Given the description of an element on the screen output the (x, y) to click on. 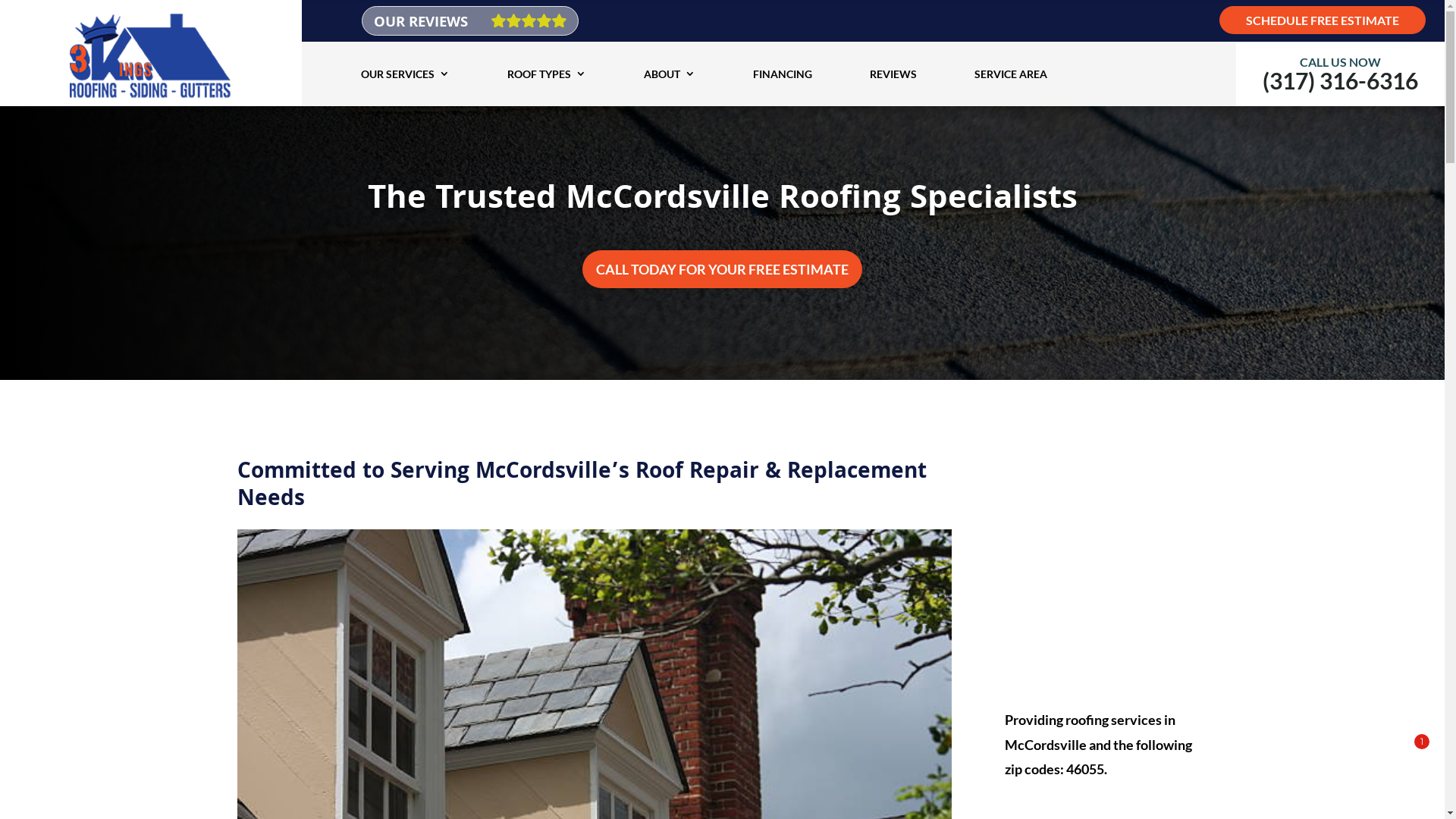
ABOUT Element type: text (669, 73)
ROOF TYPES Element type: text (546, 73)
SERVICE AREA Element type: text (1010, 73)
1 Element type: text (1316, 771)
CALL US NOW
(317) 316-6316 Element type: text (1340, 79)
SCHEDULE FREE ESTIMATE Element type: text (1322, 20)
FINANCING Element type: text (782, 73)
CALL TODAY FOR YOUR FREE ESTIMATE Element type: text (722, 269)
OUR SERVICES Element type: text (404, 73)
REVIEWS Element type: text (892, 73)
